Given the description of an element on the screen output the (x, y) to click on. 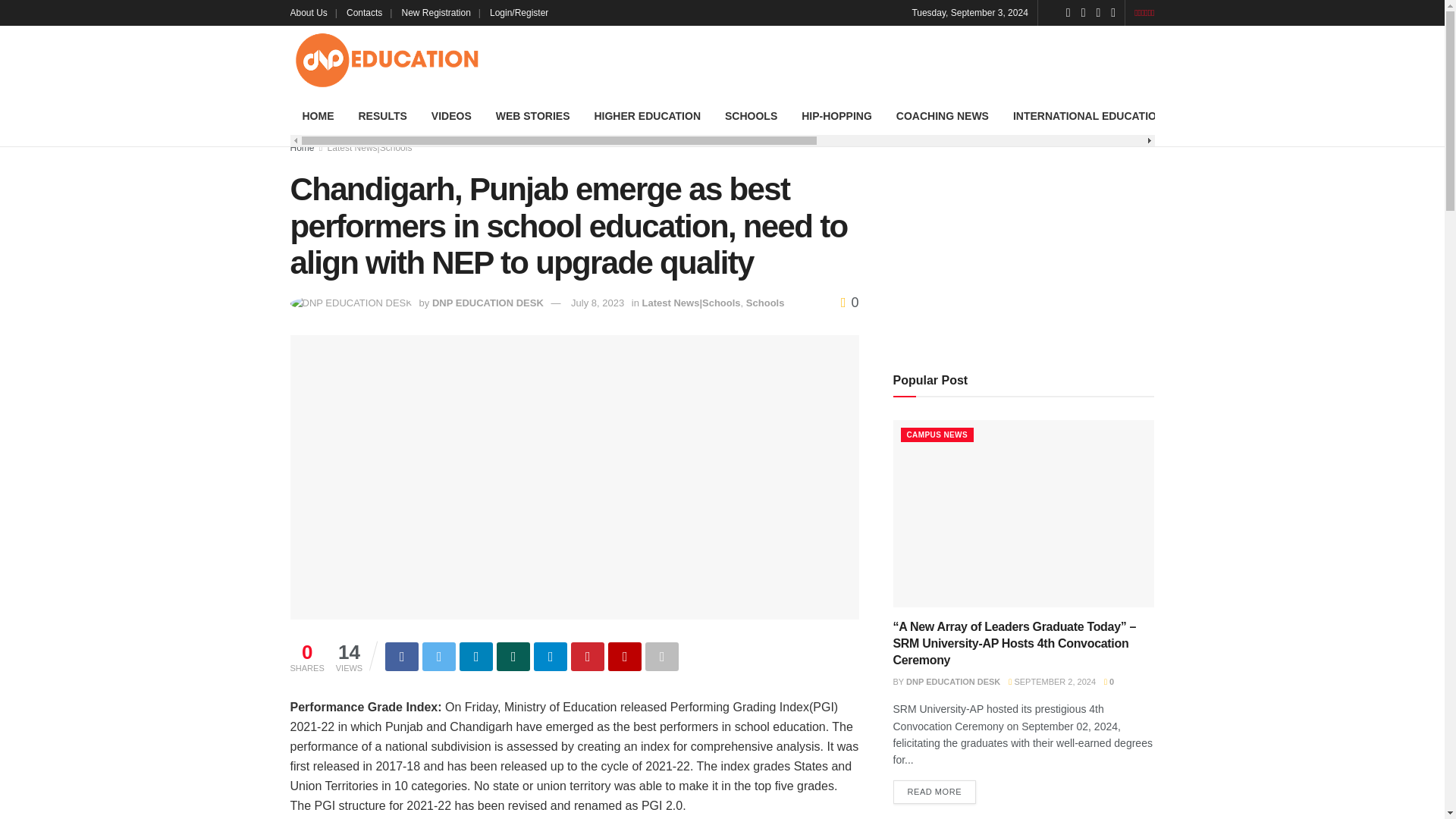
COACHING NEWS (942, 116)
About Us (312, 12)
PATENTS (1336, 116)
SCHOOLS (751, 116)
HOME (317, 116)
HIGHER EDUCATION (646, 116)
SCIENCE (1264, 116)
TECH (1202, 116)
RESULTS (382, 116)
HIP-HOPPING (836, 116)
